Given the description of an element on the screen output the (x, y) to click on. 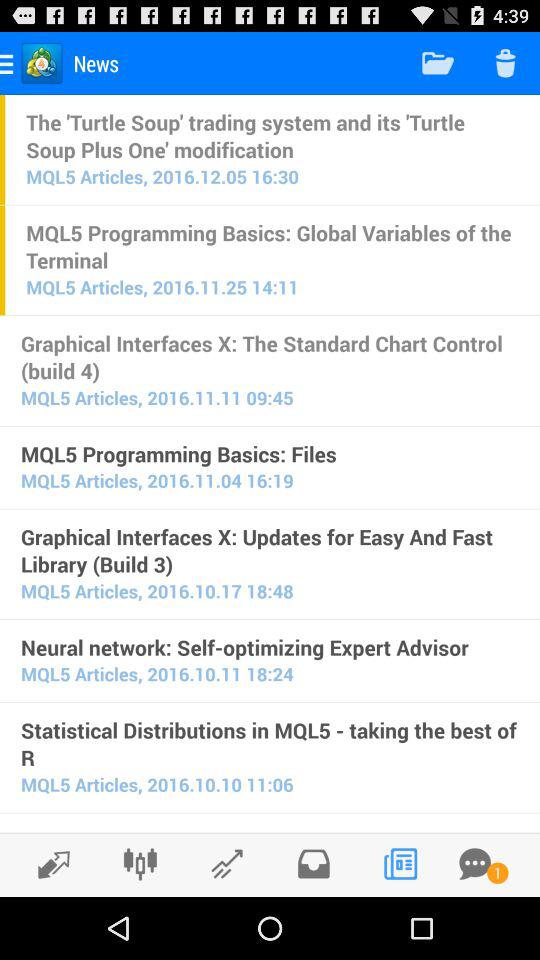
saved articles (313, 863)
